Given the description of an element on the screen output the (x, y) to click on. 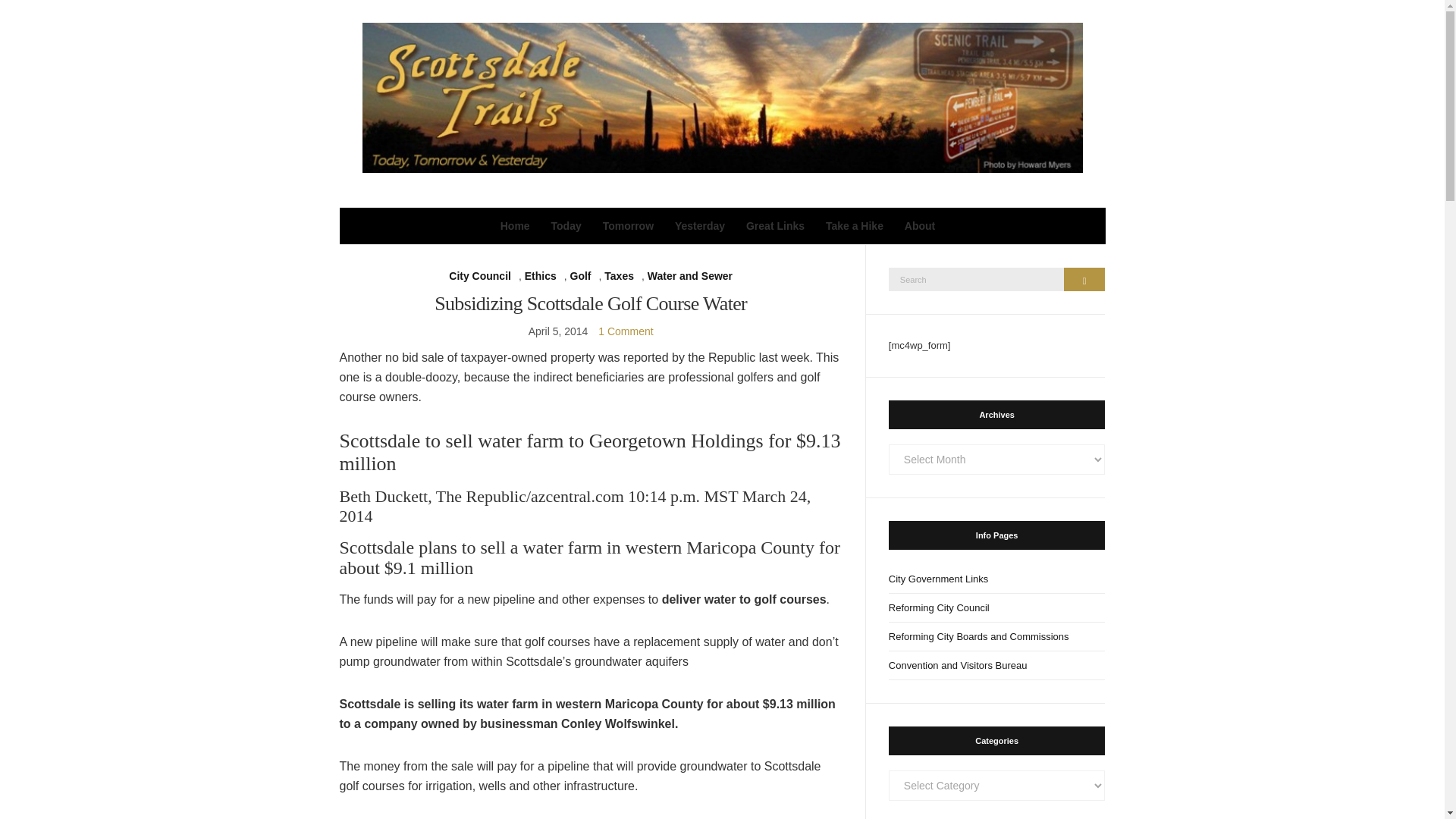
About (919, 226)
Take a Hike (854, 226)
Golf (580, 276)
Great Links (775, 226)
City Council (479, 276)
Home (514, 226)
Yesterday (700, 226)
Taxes (618, 276)
Ethics (540, 276)
Search (1084, 279)
